Given the description of an element on the screen output the (x, y) to click on. 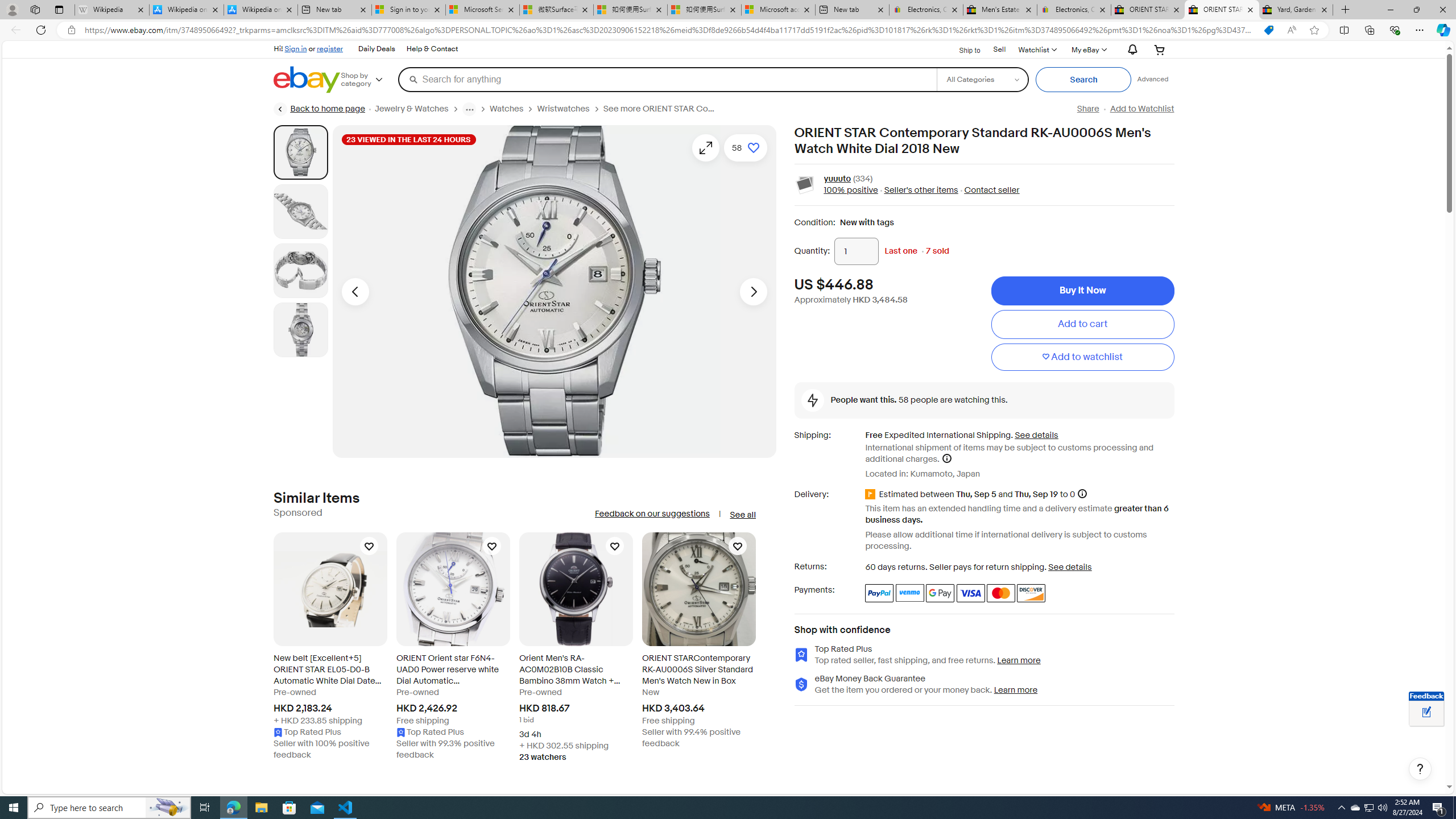
Your shopping cart (1159, 49)
(334) (863, 179)
Watches (513, 108)
Feedback on our suggestions (652, 513)
Add to Watchlist (1141, 108)
Add to watchlist - 58 watchers (745, 147)
